Given the description of an element on the screen output the (x, y) to click on. 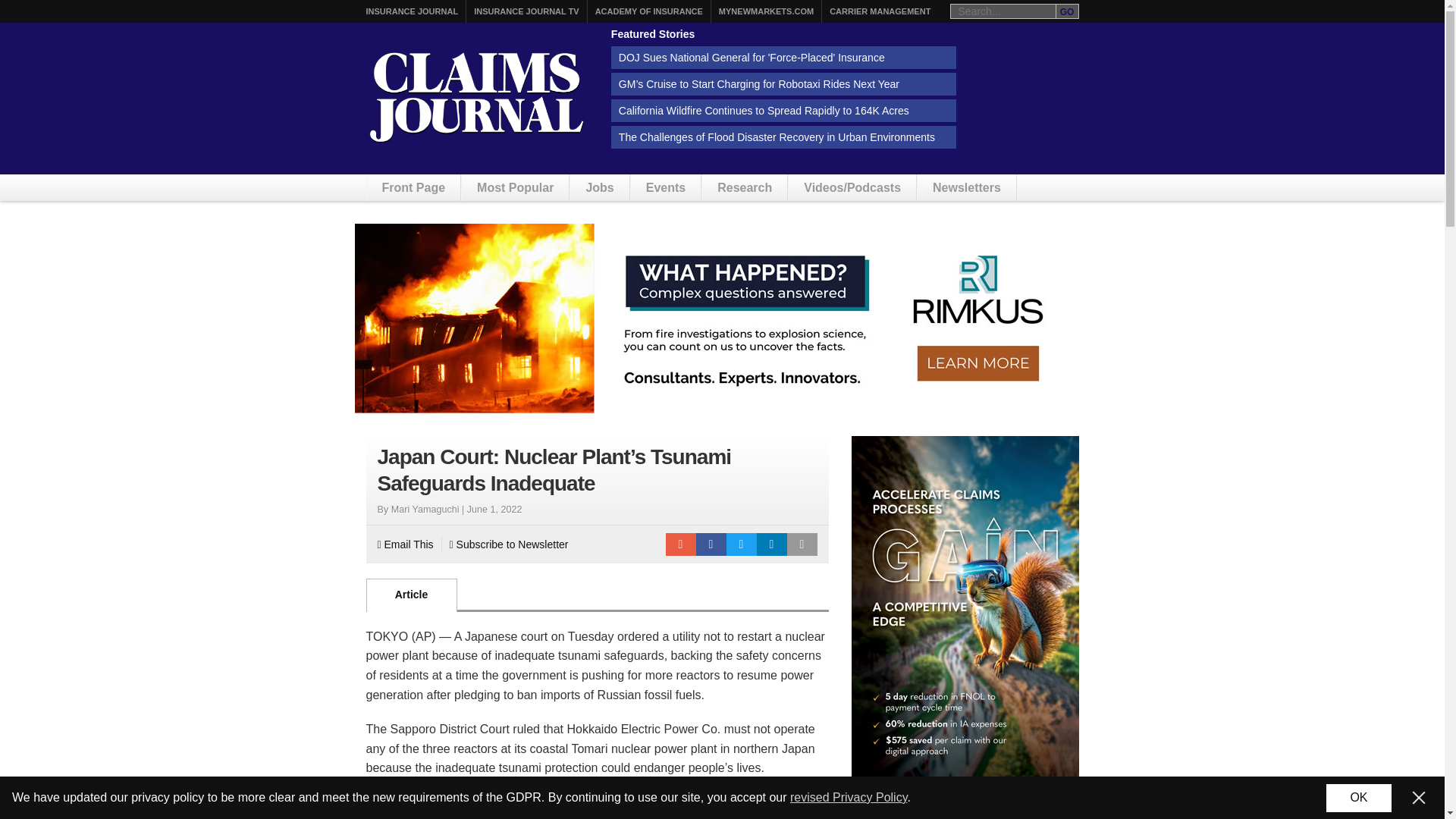
Go (1066, 11)
ACADEMY OF INSURANCE (649, 11)
DOJ Sues National General for 'Force-Placed' Insurance (783, 56)
Print Article (801, 544)
Subscribe to Newsletter (509, 544)
Jobs (599, 187)
Research (744, 187)
Print Article (801, 544)
MYNEWMARKETS.COM (766, 11)
Post to Facebook. (710, 544)
Email to a friend (680, 544)
Newsletters (966, 187)
Front Page (413, 187)
Tweet (741, 544)
